Given the description of an element on the screen output the (x, y) to click on. 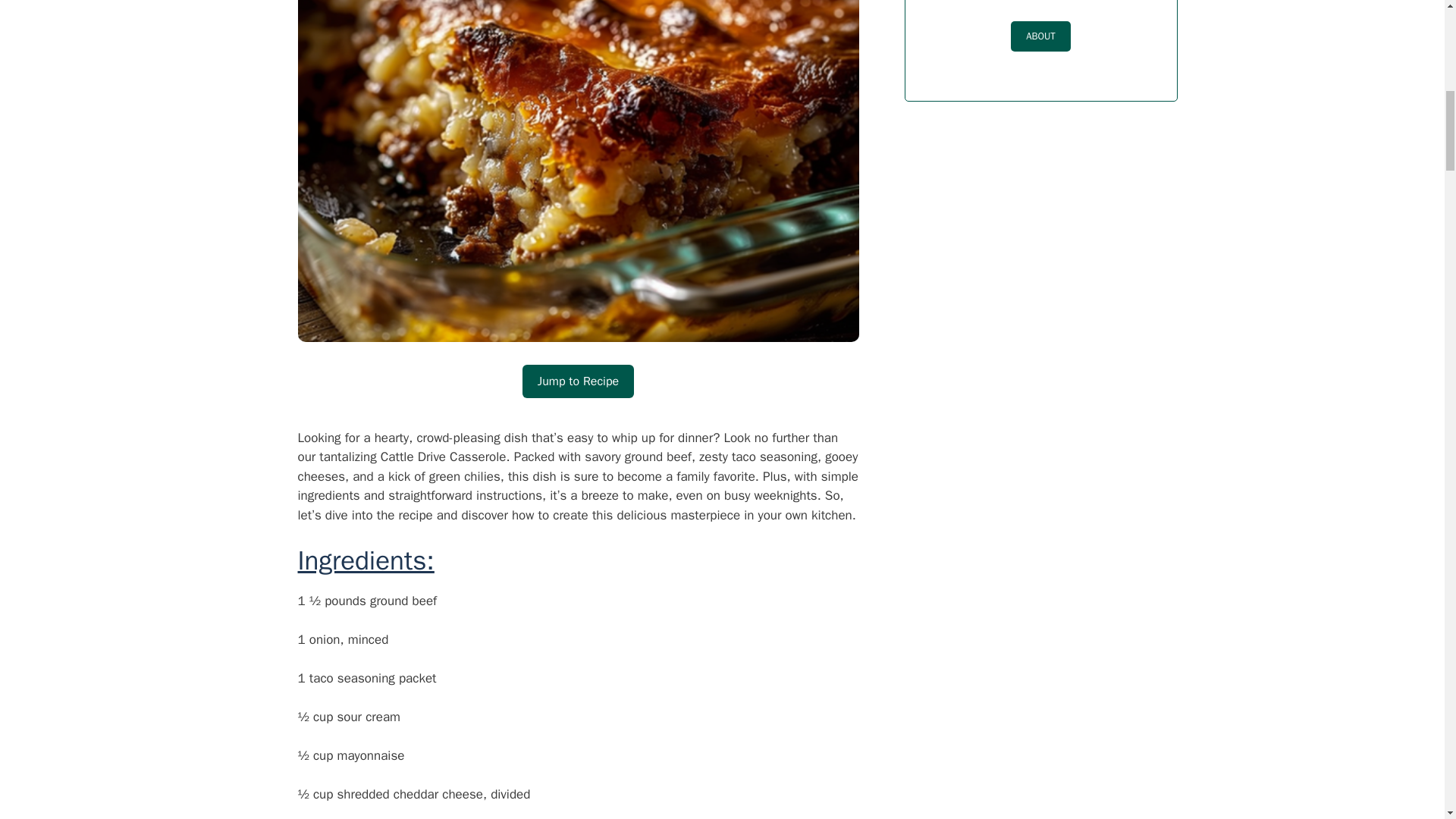
ABOUT (1040, 36)
Scroll back to top (1406, 720)
Jump to Recipe (577, 381)
